Given the description of an element on the screen output the (x, y) to click on. 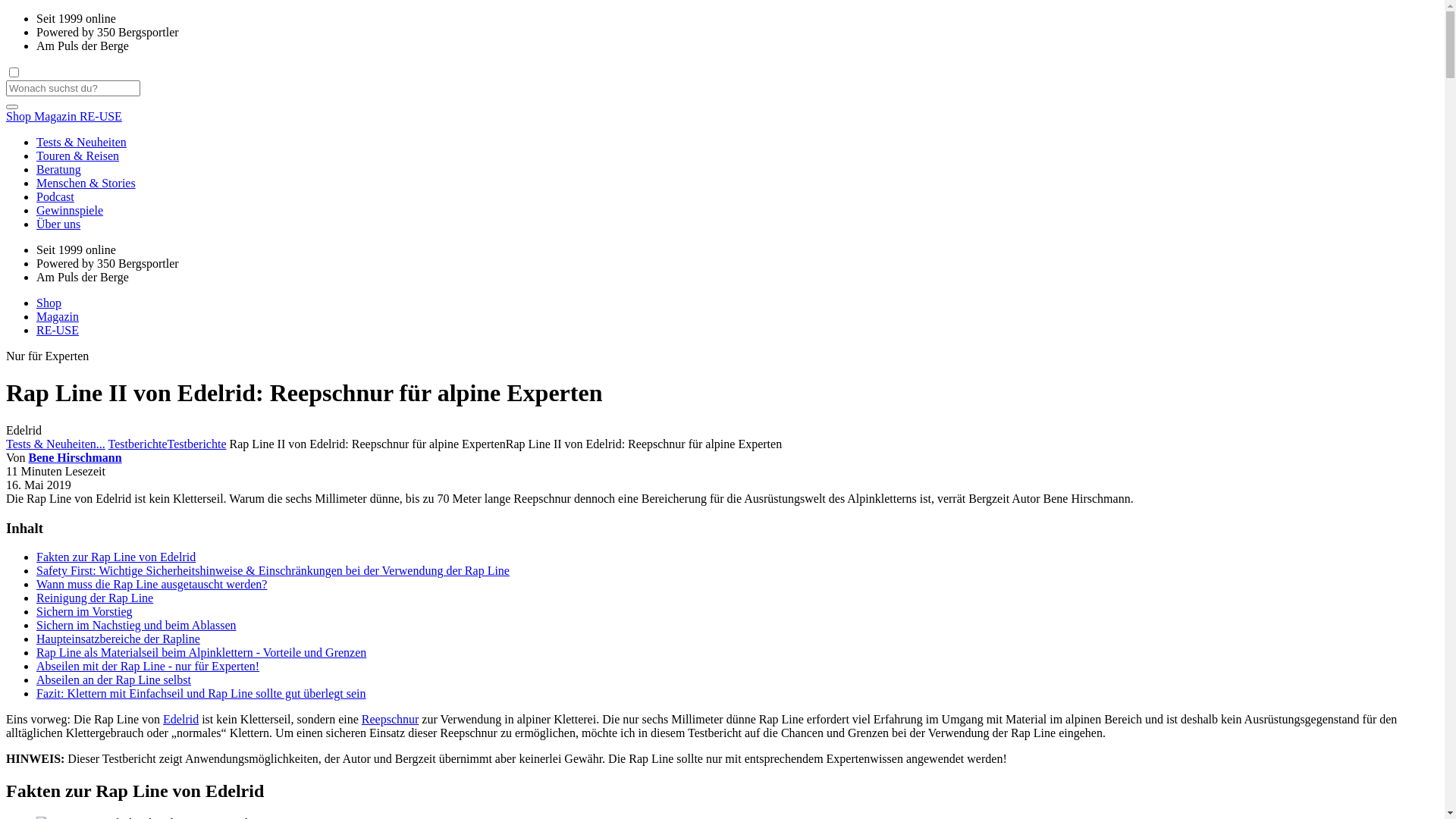
Beratung Element type: text (737, 169)
Home Element type: hover (722, 443)
Podcast Element type: text (737, 196)
Tests & Neuheiten Element type: text (737, 142)
Abseilen an der Rap Line selbst Element type: text (113, 679)
Bene Hirschmann Element type: text (75, 457)
Shop Element type: text (20, 115)
Magazin Element type: text (57, 316)
Shop Element type: text (48, 302)
TestberichteTestberichte Element type: text (167, 443)
Fakten zur Rap Line von Edelrid Element type: text (115, 556)
Edelrid Element type: text (180, 718)
Sichern im Vorstieg Element type: text (84, 611)
Reinigung der Rap Line Element type: text (94, 597)
Sichern im Nachstieg und beim Ablassen Element type: text (136, 624)
RE-USE Element type: text (100, 115)
Magazin Element type: text (56, 115)
Tests & Neuheiten... Element type: text (55, 443)
Reepschnur Element type: text (390, 718)
Haupteinsatzbereiche der Rapline Element type: text (118, 638)
Wann muss die Rap Line ausgetauscht werden? Element type: text (151, 583)
RE-USE Element type: text (57, 329)
Menschen & Stories Element type: text (737, 183)
Touren & Reisen Element type: text (737, 156)
Gewinnspiele Element type: text (737, 210)
